Given the description of an element on the screen output the (x, y) to click on. 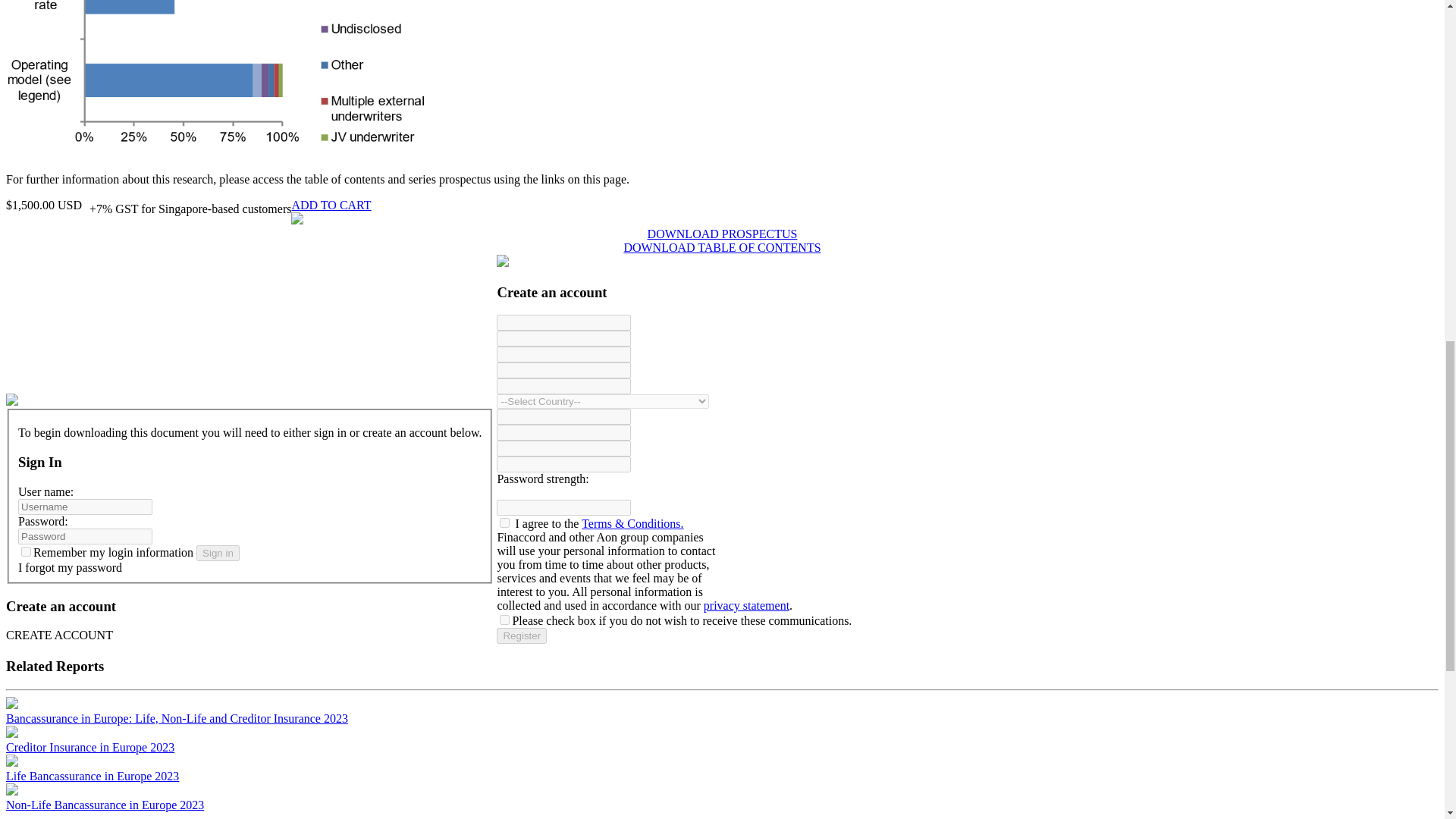
on (25, 551)
Sign in (218, 553)
I forgot my password (69, 567)
Creditor Insurance in Europe 2023 (89, 747)
on (504, 522)
Life Bancassurance in Europe 2023 (92, 775)
Non-Life Bancassurance in Europe 2023 (104, 804)
Sign in (218, 553)
CREATE ACCOUNT (249, 635)
on (504, 619)
privacy statement (746, 604)
Register (521, 635)
Register (521, 635)
